Given the description of an element on the screen output the (x, y) to click on. 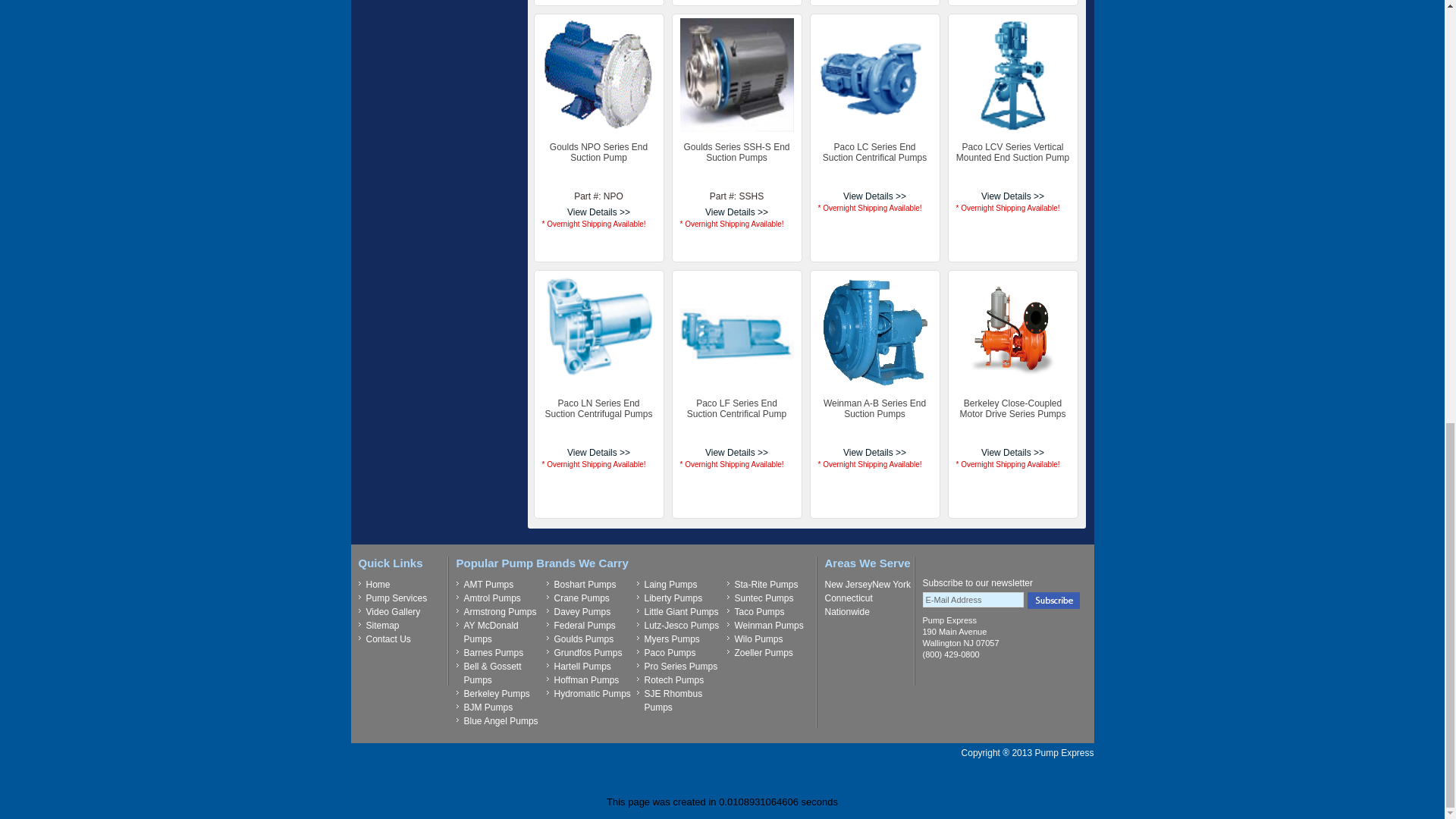
Subscribe (1052, 600)
E-Mail Address (972, 599)
